Given the description of an element on the screen output the (x, y) to click on. 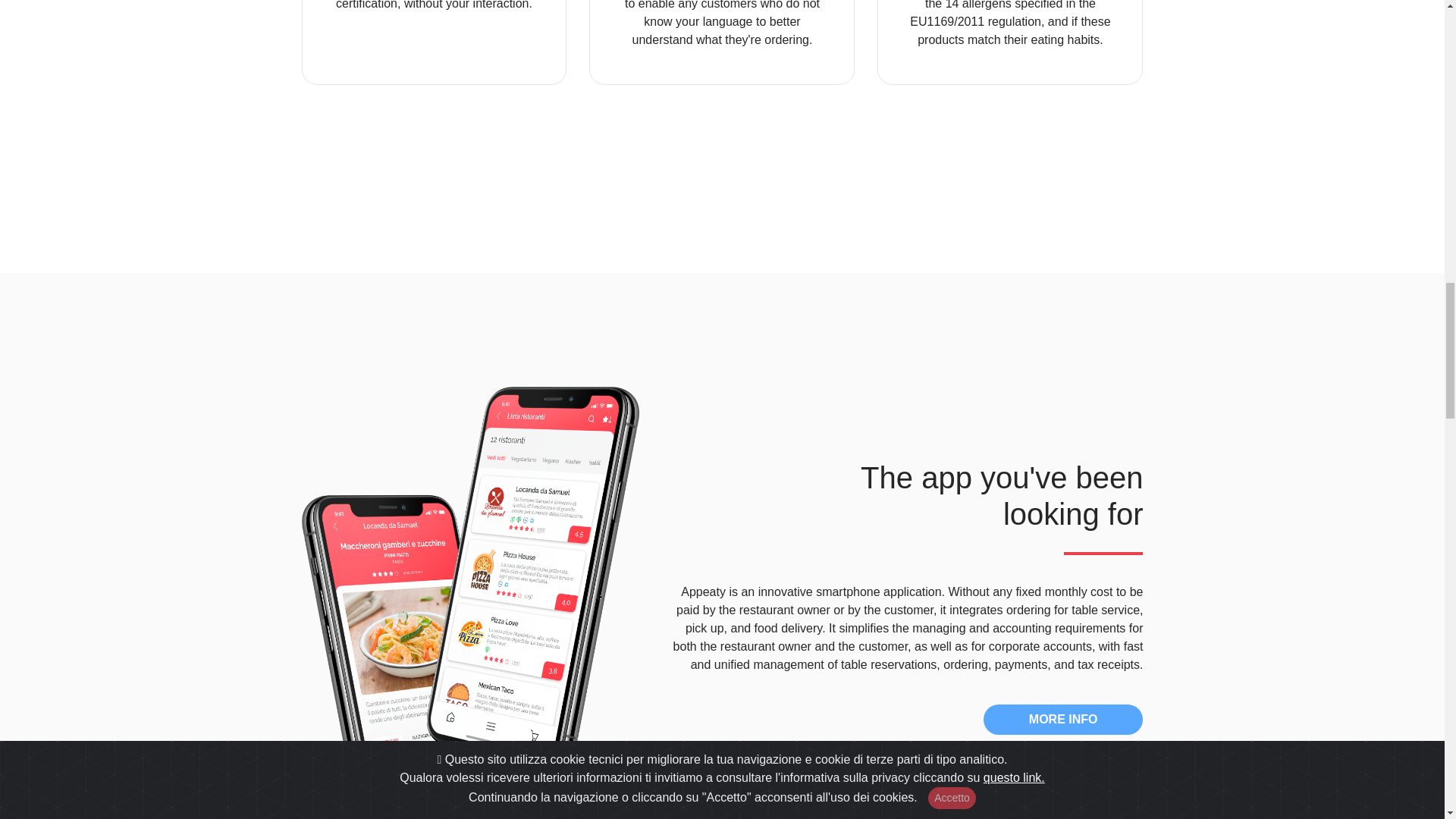
MORE INFO (1063, 719)
